Given the description of an element on the screen output the (x, y) to click on. 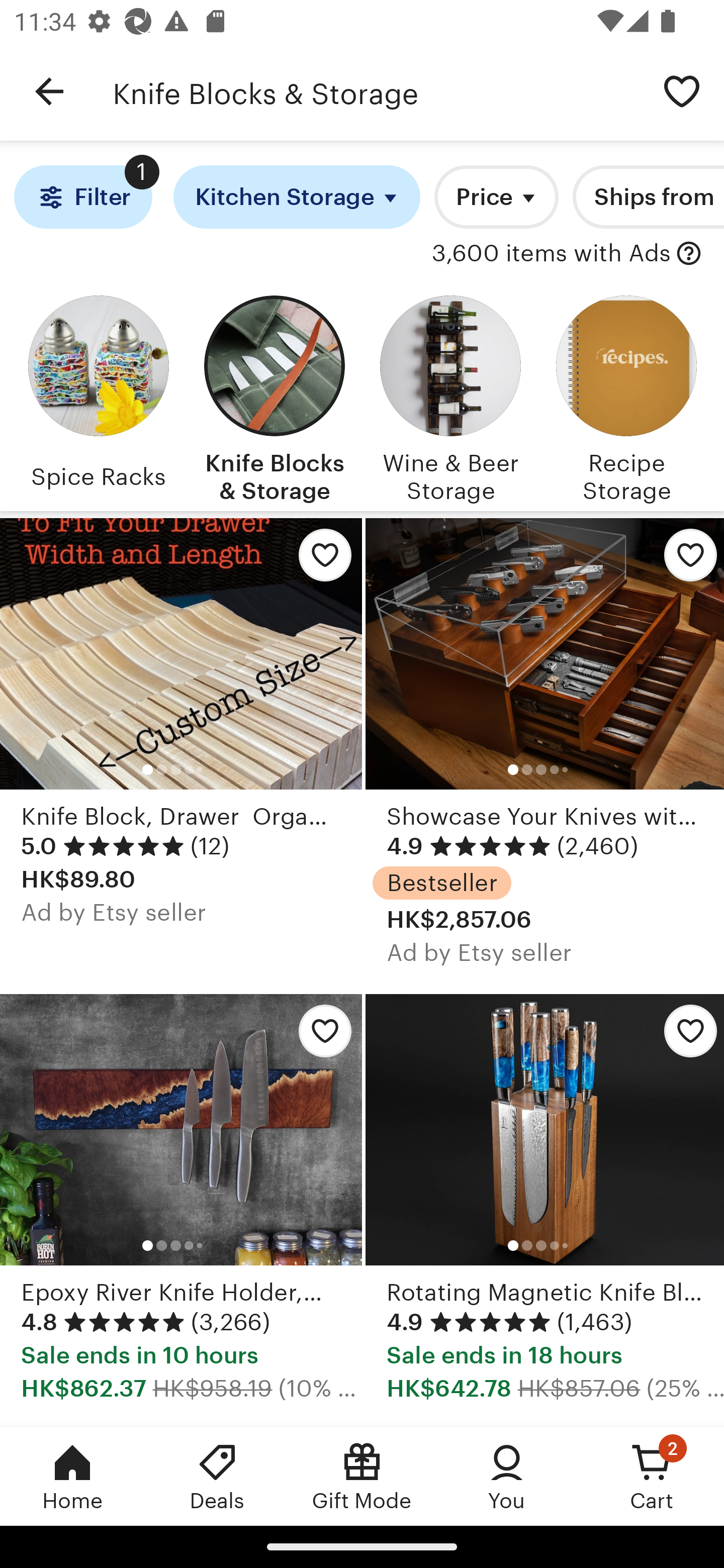
Navigate up (49, 91)
Save search (681, 90)
Knife Blocks & Storage (375, 91)
Filter (82, 197)
Kitchen Storage (296, 197)
Price (496, 197)
Ships from (648, 197)
3,600 items with Ads (551, 253)
with Ads (688, 253)
Spice Racks (97, 395)
Knife Blocks & Storage (273, 395)
Wine & Beer Storage (449, 395)
Recipe Storage (625, 395)
Deals (216, 1475)
Gift Mode (361, 1475)
You (506, 1475)
Cart, 2 new notifications Cart (651, 1475)
